Given the description of an element on the screen output the (x, y) to click on. 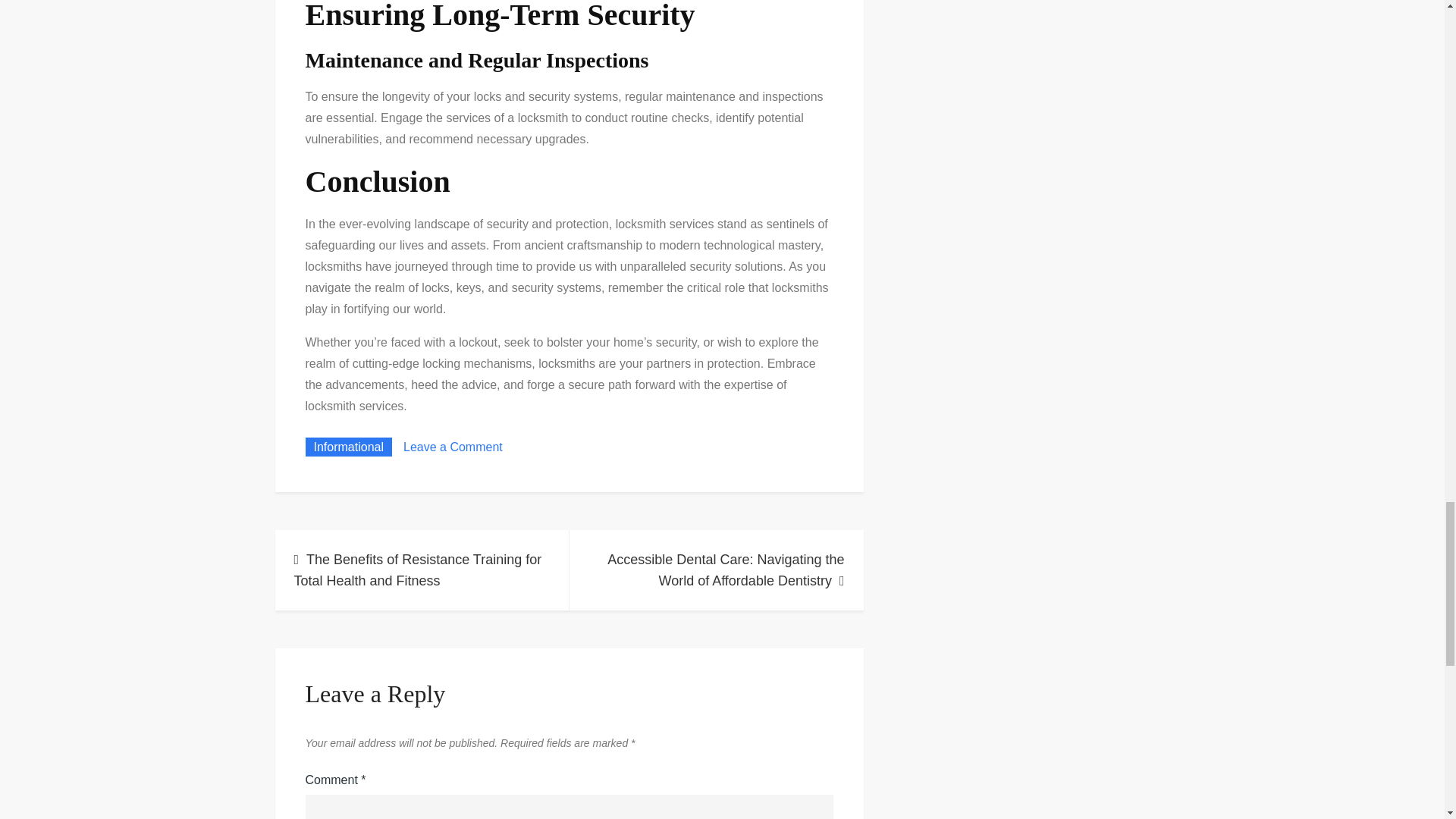
Informational (347, 492)
